Given the description of an element on the screen output the (x, y) to click on. 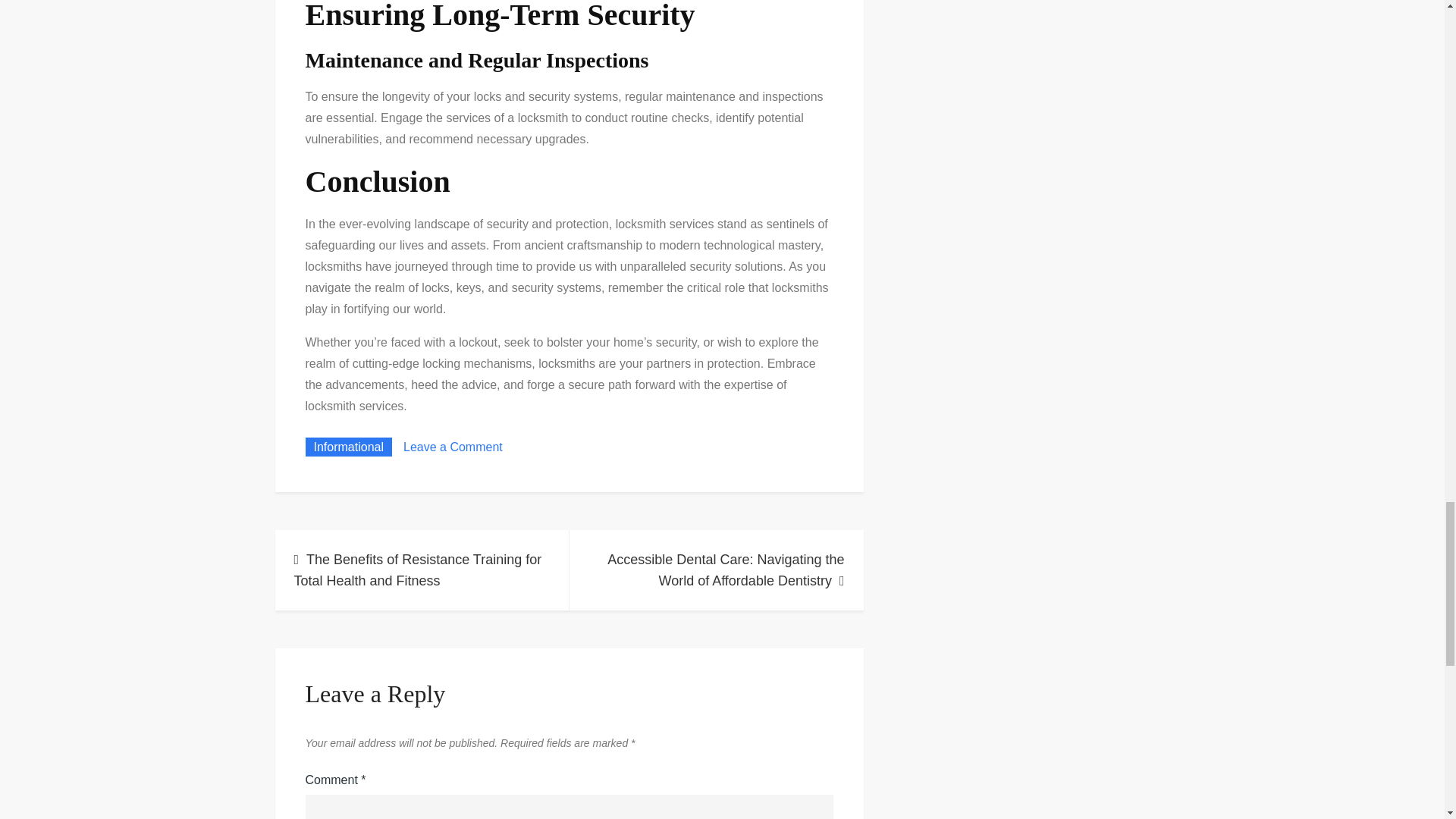
Informational (347, 492)
